Given the description of an element on the screen output the (x, y) to click on. 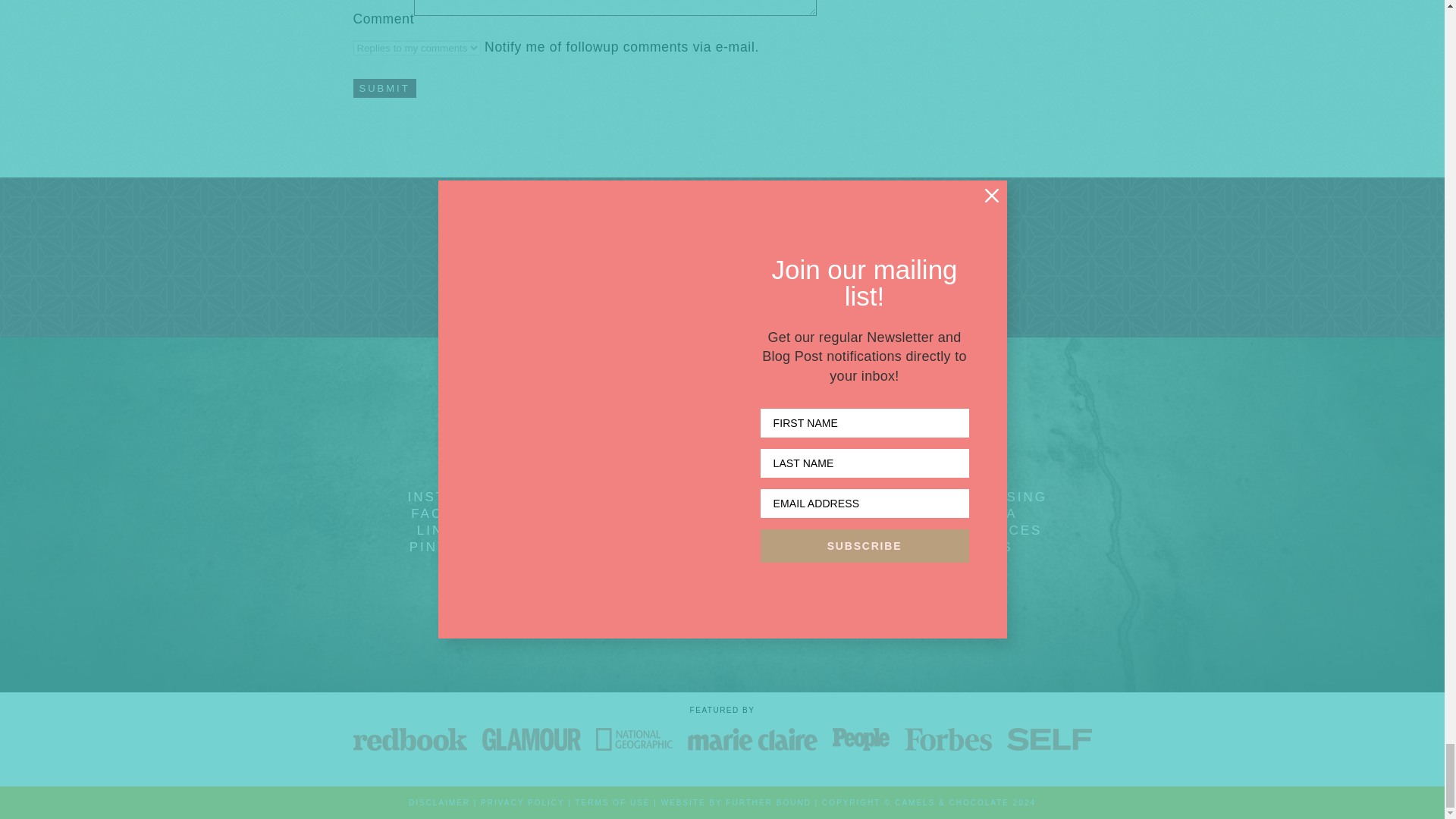
Submit (384, 87)
To search, type and hit enter (722, 535)
